Given the description of an element on the screen output the (x, y) to click on. 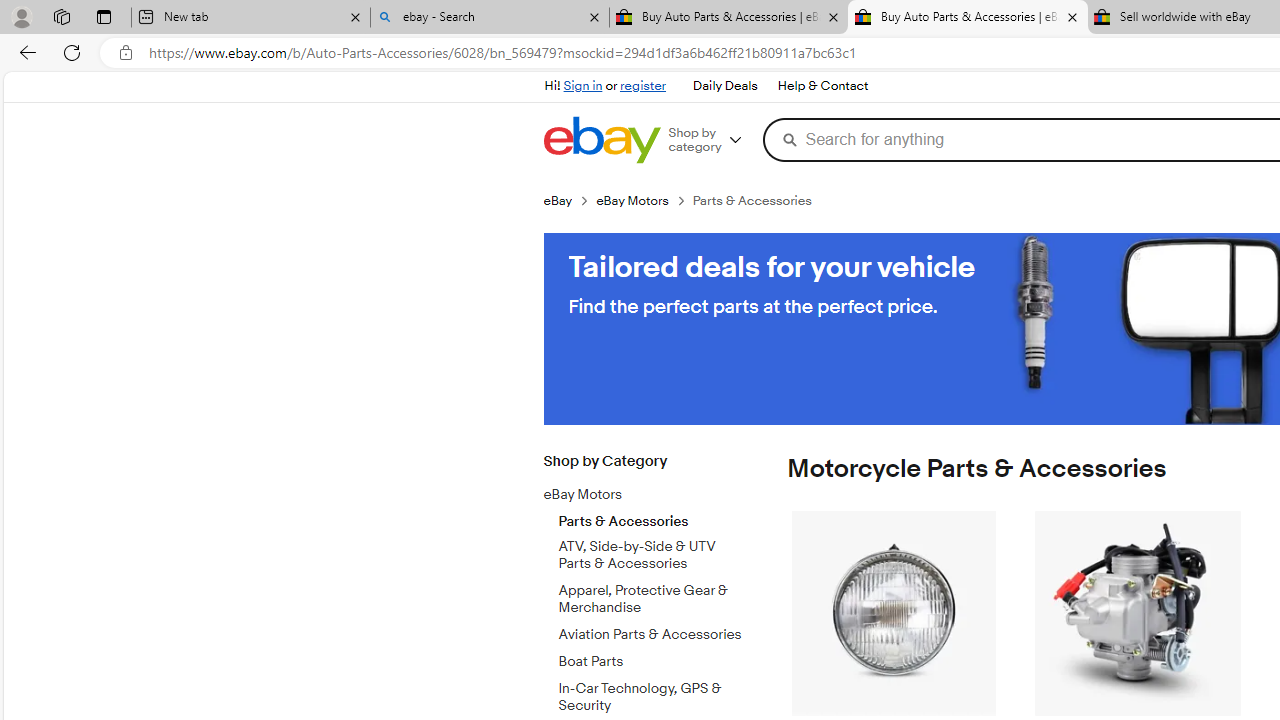
Apparel, Protective Gear & Merchandise (653, 599)
Boat Parts (653, 662)
eBay (569, 200)
Shop by category (711, 140)
